Given the description of an element on the screen output the (x, y) to click on. 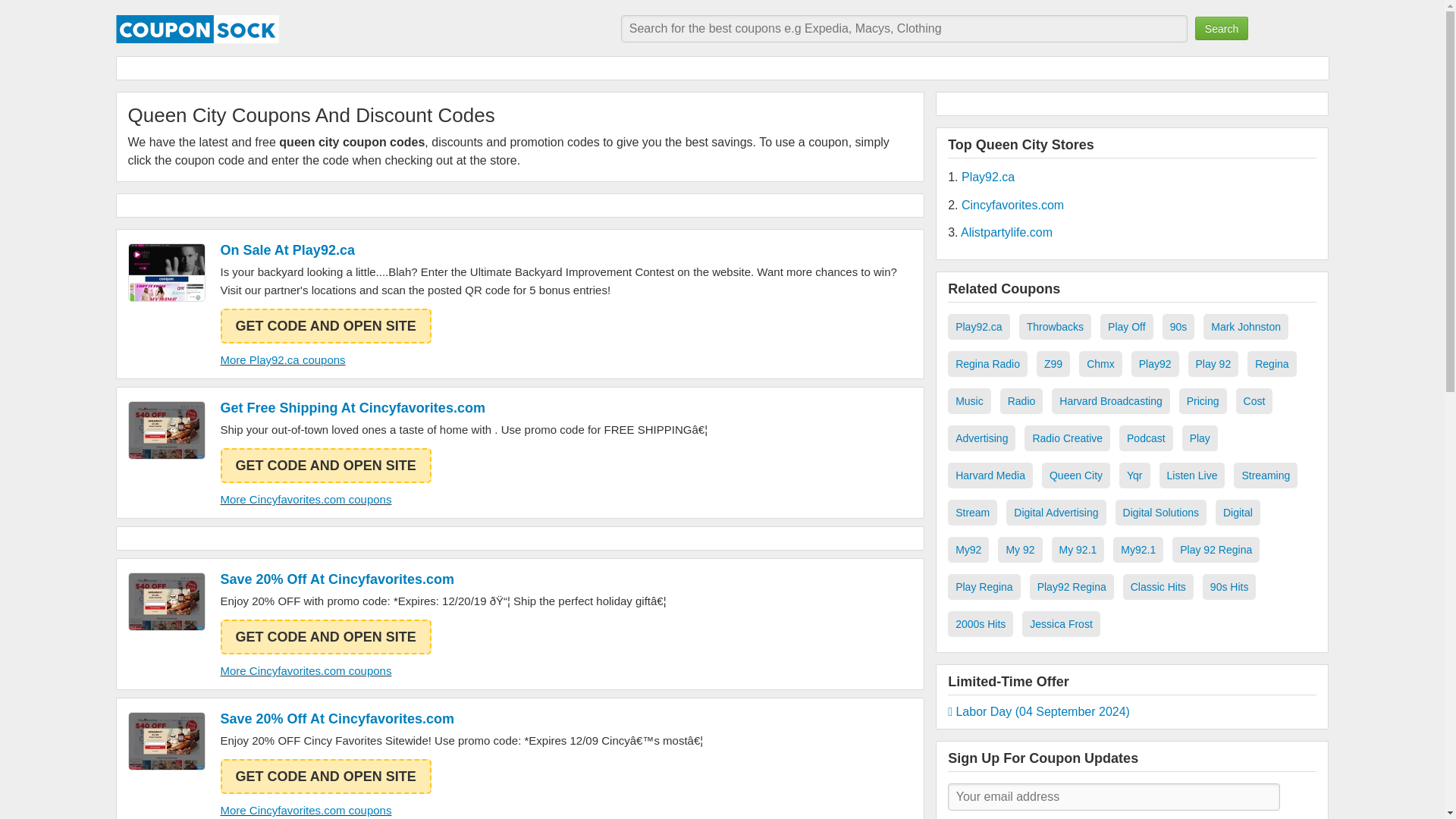
Search (1221, 28)
GET CODE AND OPEN SITE (324, 325)
More Cincyfavorites.com coupons (305, 670)
GET CODE AND OPEN SITE (324, 465)
GET CODE AND OPEN SITE (324, 776)
Cincyfavorites.com Coupons (166, 601)
On Sale At Play92.ca (567, 249)
Cincyfavorites.com Coupons (166, 430)
GET CODE AND OPEN SITE (324, 636)
More Cincyfavorites.com coupons (305, 499)
